Given the description of an element on the screen output the (x, y) to click on. 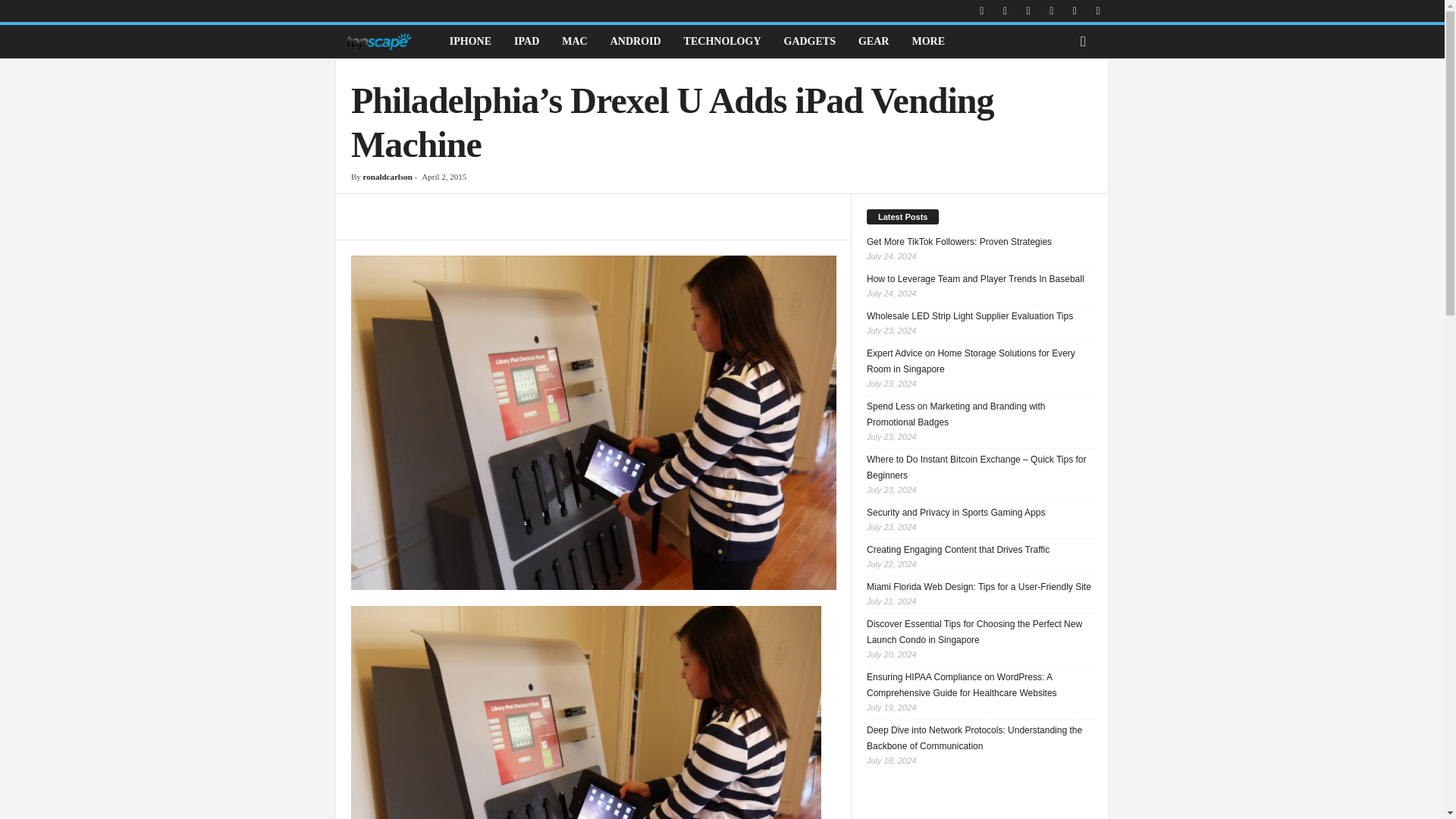
Twitter (1074, 11)
Linkedin (1027, 11)
iPhone, iPad, Android App Reviews and Technology News (378, 41)
Youtube (1097, 11)
Facebook (981, 11)
RSS (1051, 11)
